Given the description of an element on the screen output the (x, y) to click on. 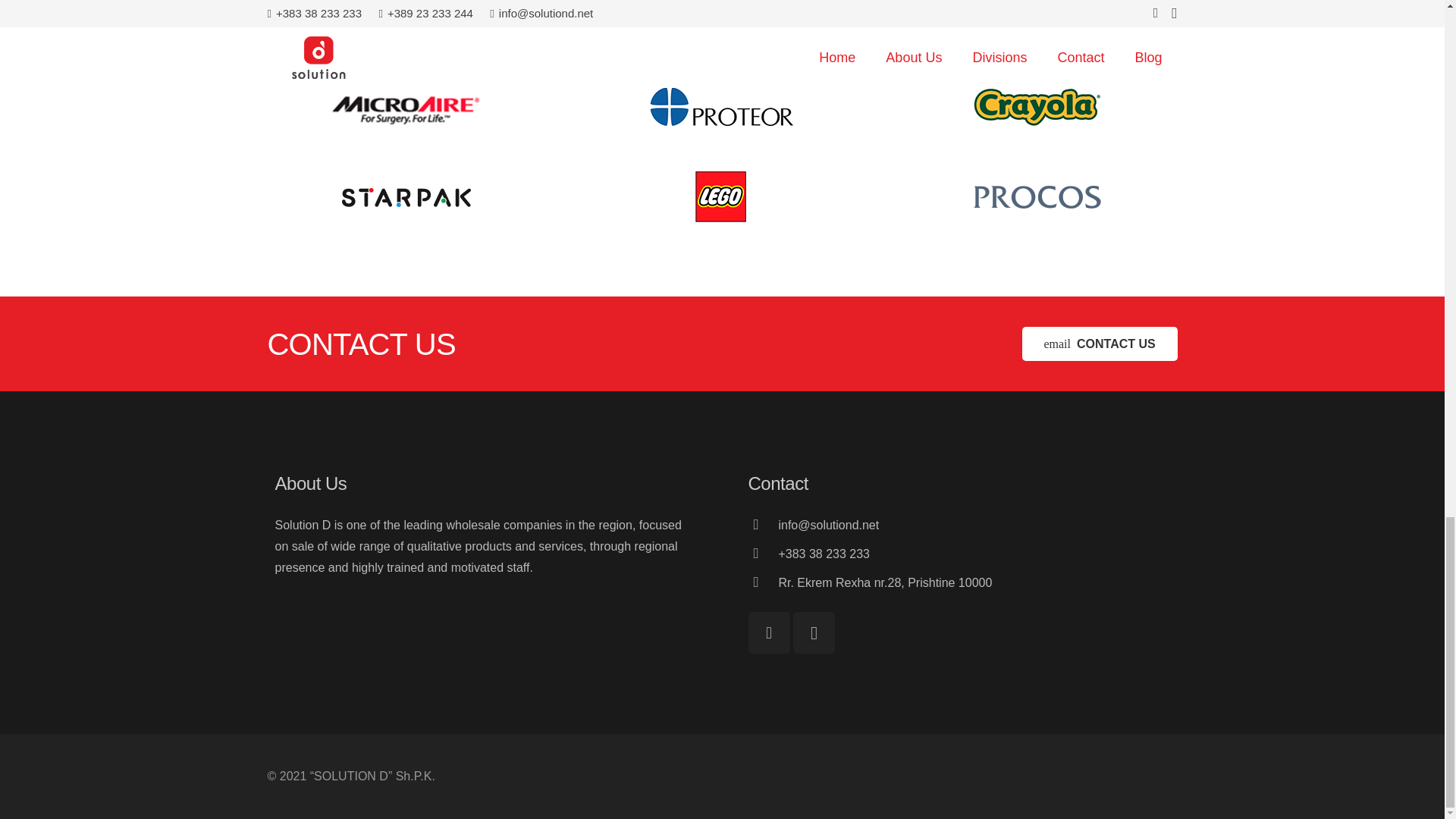
emailCONTACT US (1099, 343)
Contact (1099, 343)
